Given the description of an element on the screen output the (x, y) to click on. 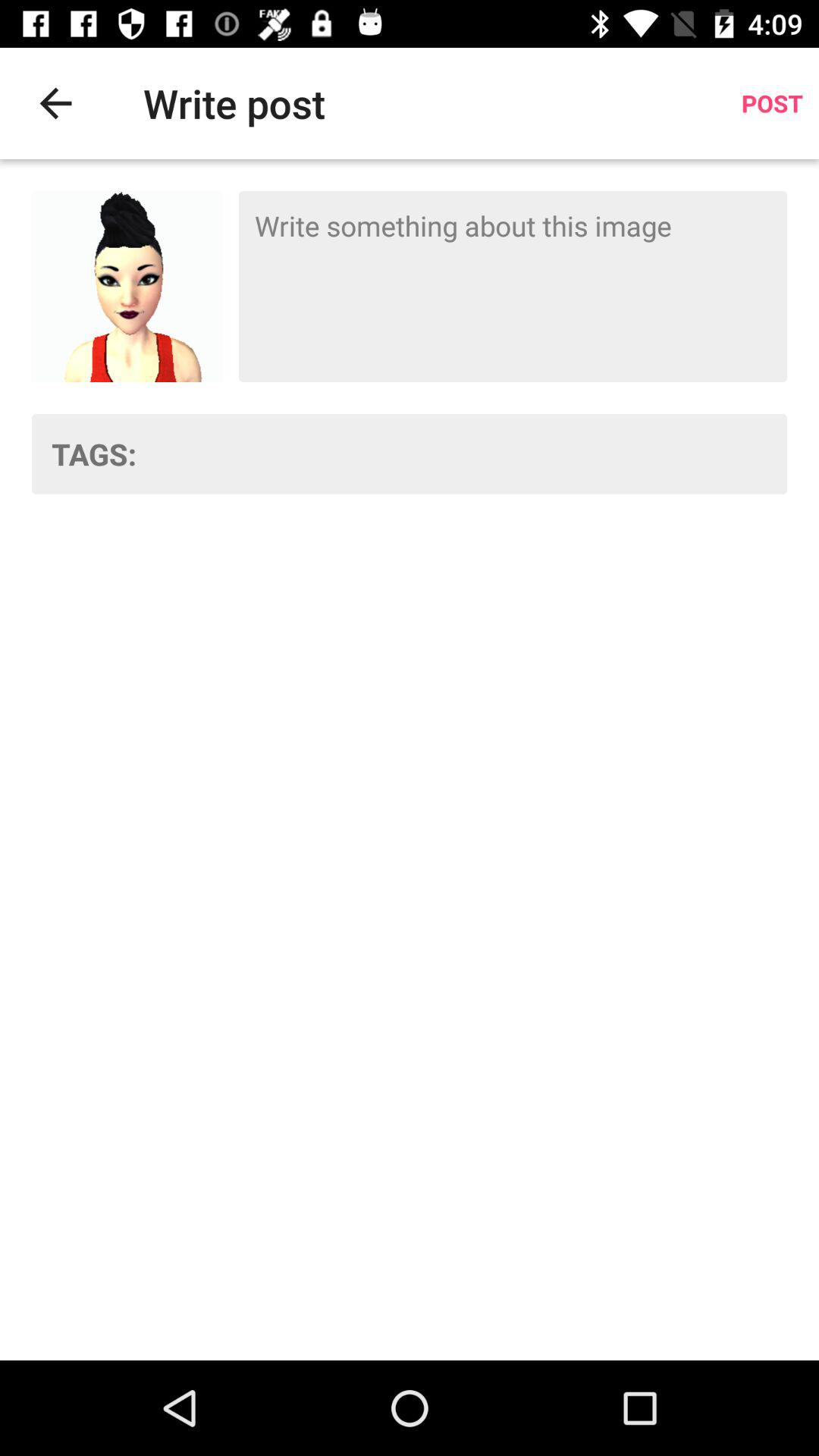
comment box (512, 286)
